Given the description of an element on the screen output the (x, y) to click on. 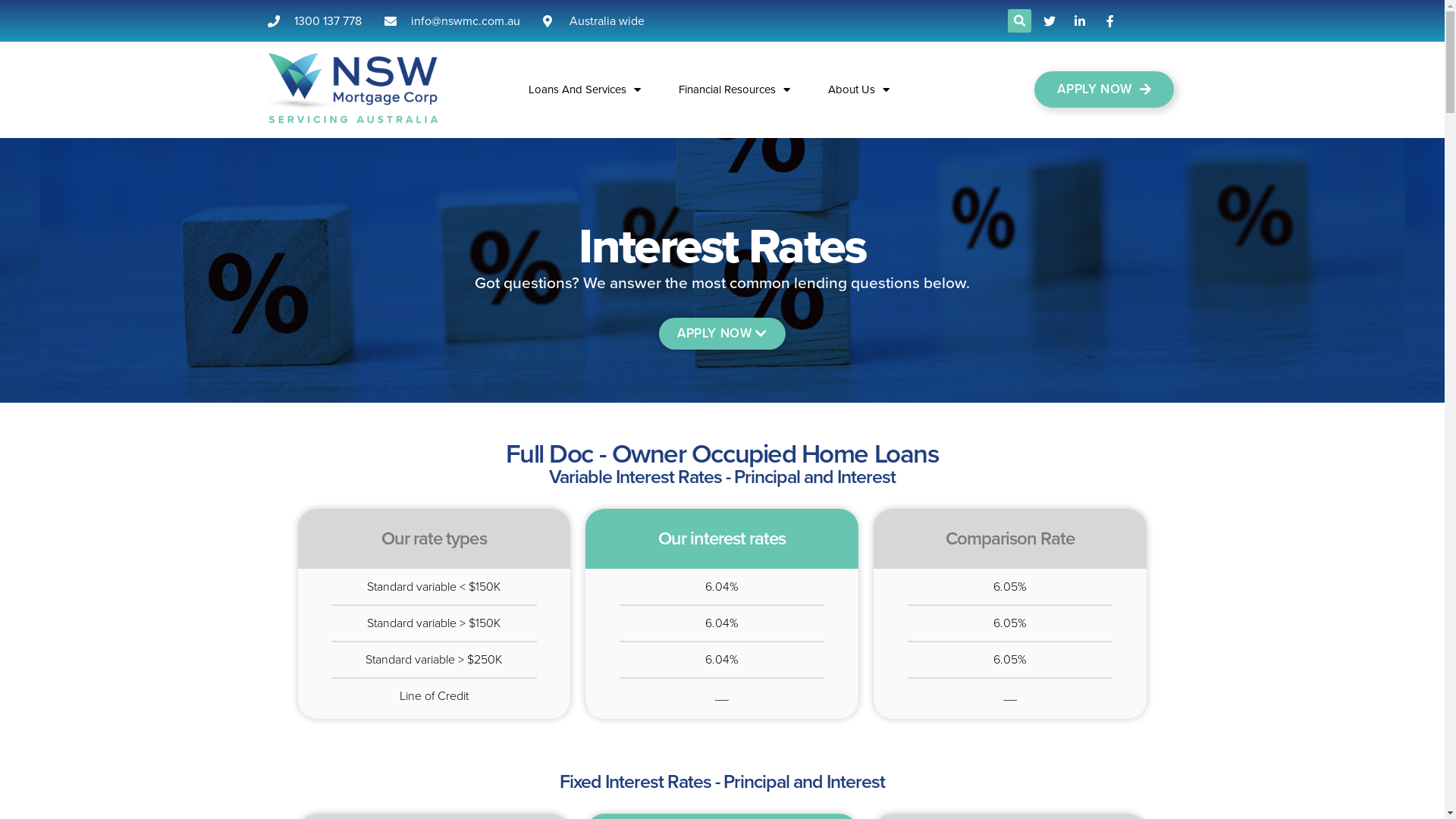
APPLY NOW Element type: text (1103, 89)
APPLY NOW Element type: text (721, 333)
1300 137 778 Element type: text (313, 21)
About Us Element type: text (858, 89)
info@nswmc.com.au Element type: text (451, 21)
Loans And Services Element type: text (584, 89)
Financial Resources Element type: text (734, 89)
